Given the description of an element on the screen output the (x, y) to click on. 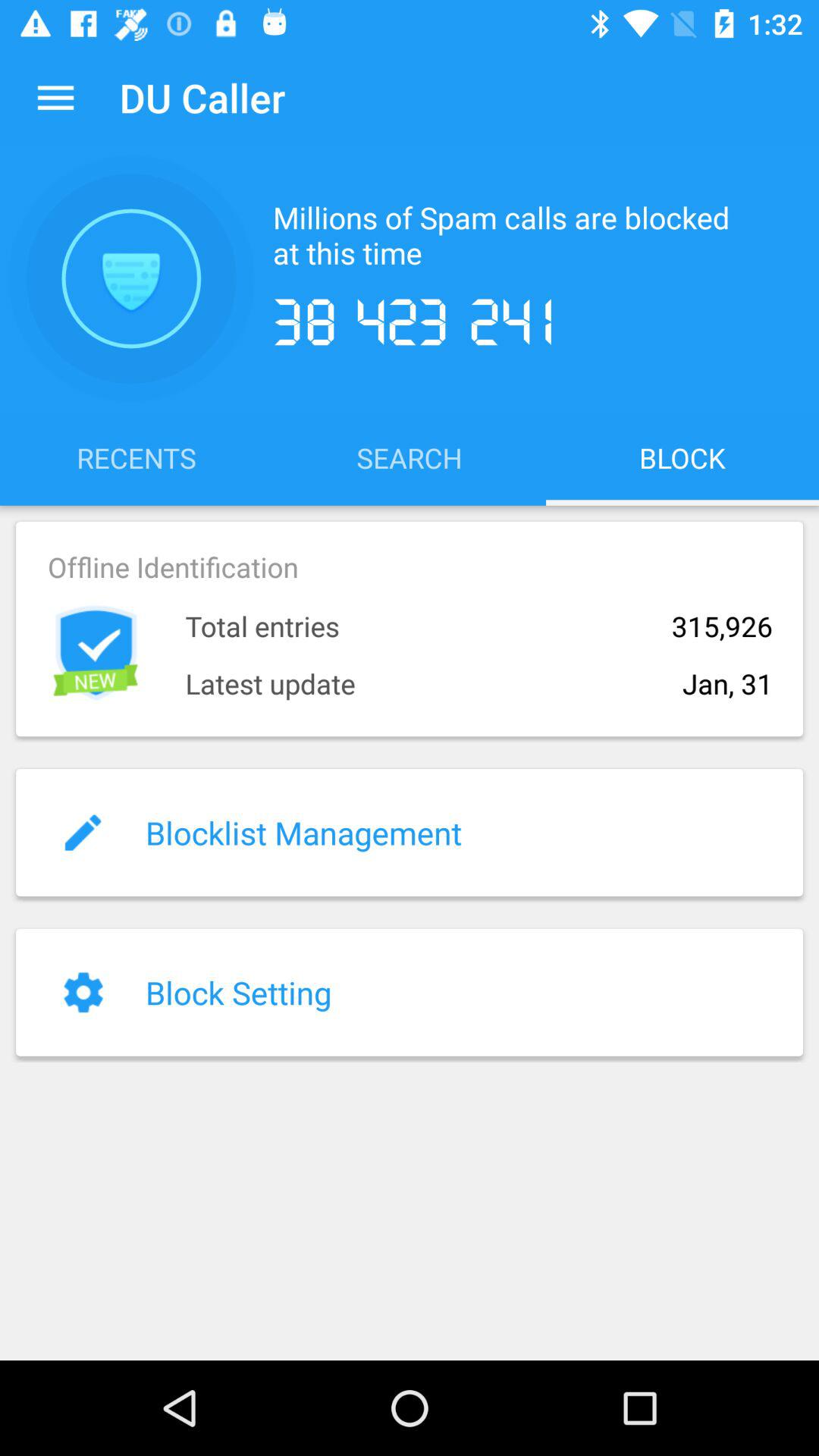
launch icon above the offline identification (409, 457)
